Given the description of an element on the screen output the (x, y) to click on. 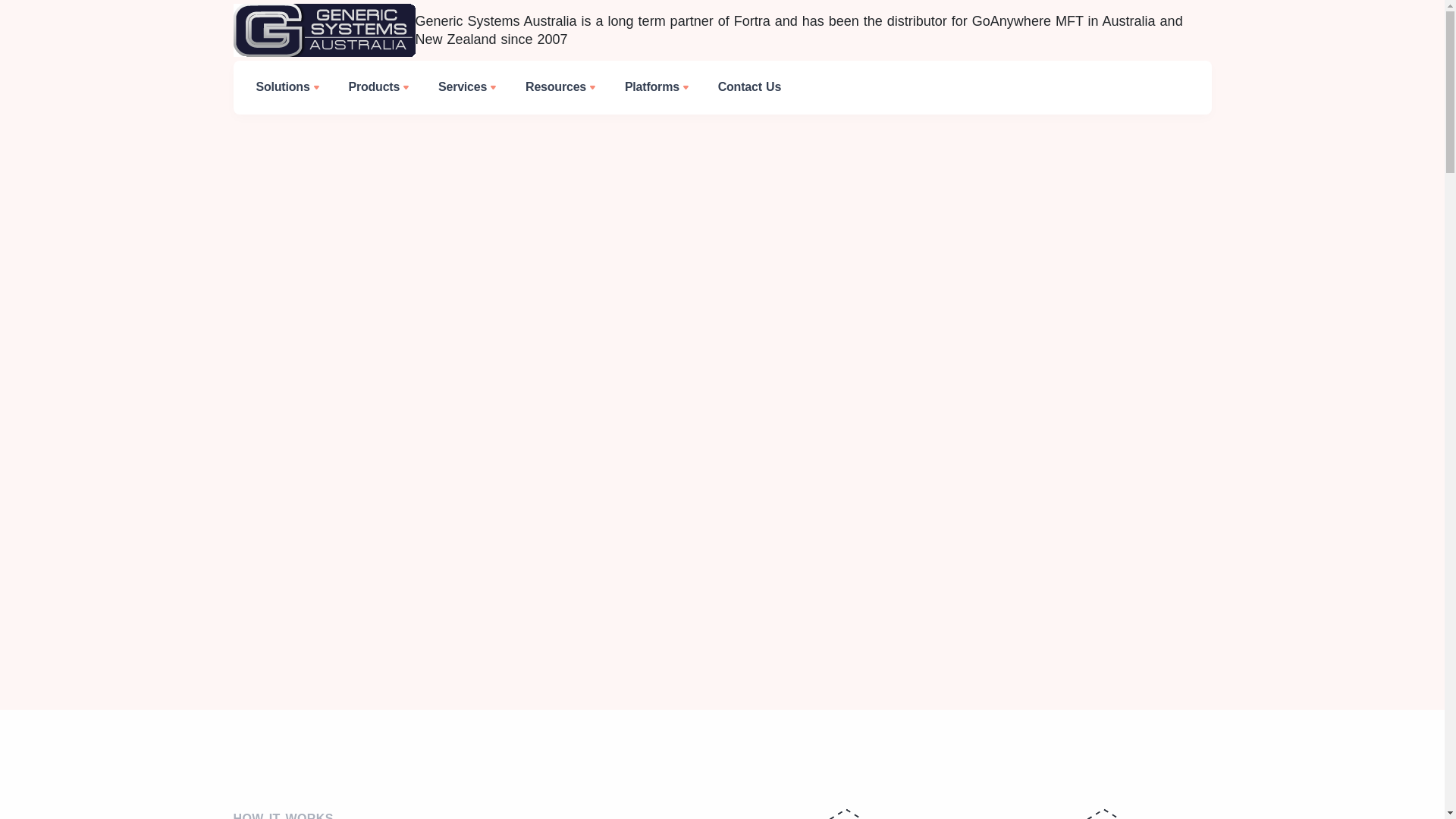
Services Element type: text (466, 87)
Solutions Element type: text (287, 87)
Resources Element type: text (559, 87)
Contact Us Element type: text (749, 86)
Products Element type: text (377, 87)
Platforms Element type: text (655, 87)
